Given the description of an element on the screen output the (x, y) to click on. 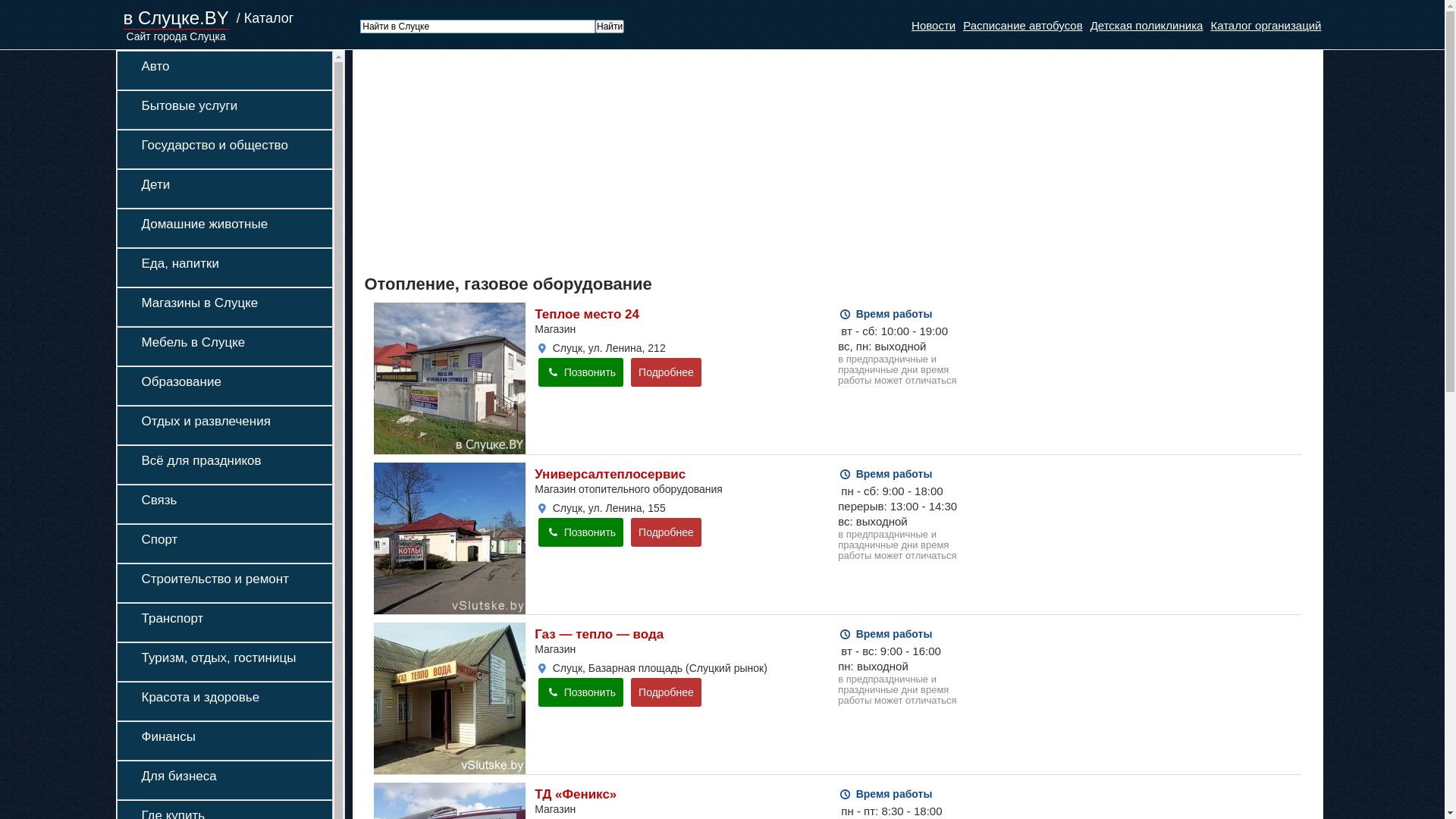
Advertisement Element type: hover (819, 163)
